Given the description of an element on the screen output the (x, y) to click on. 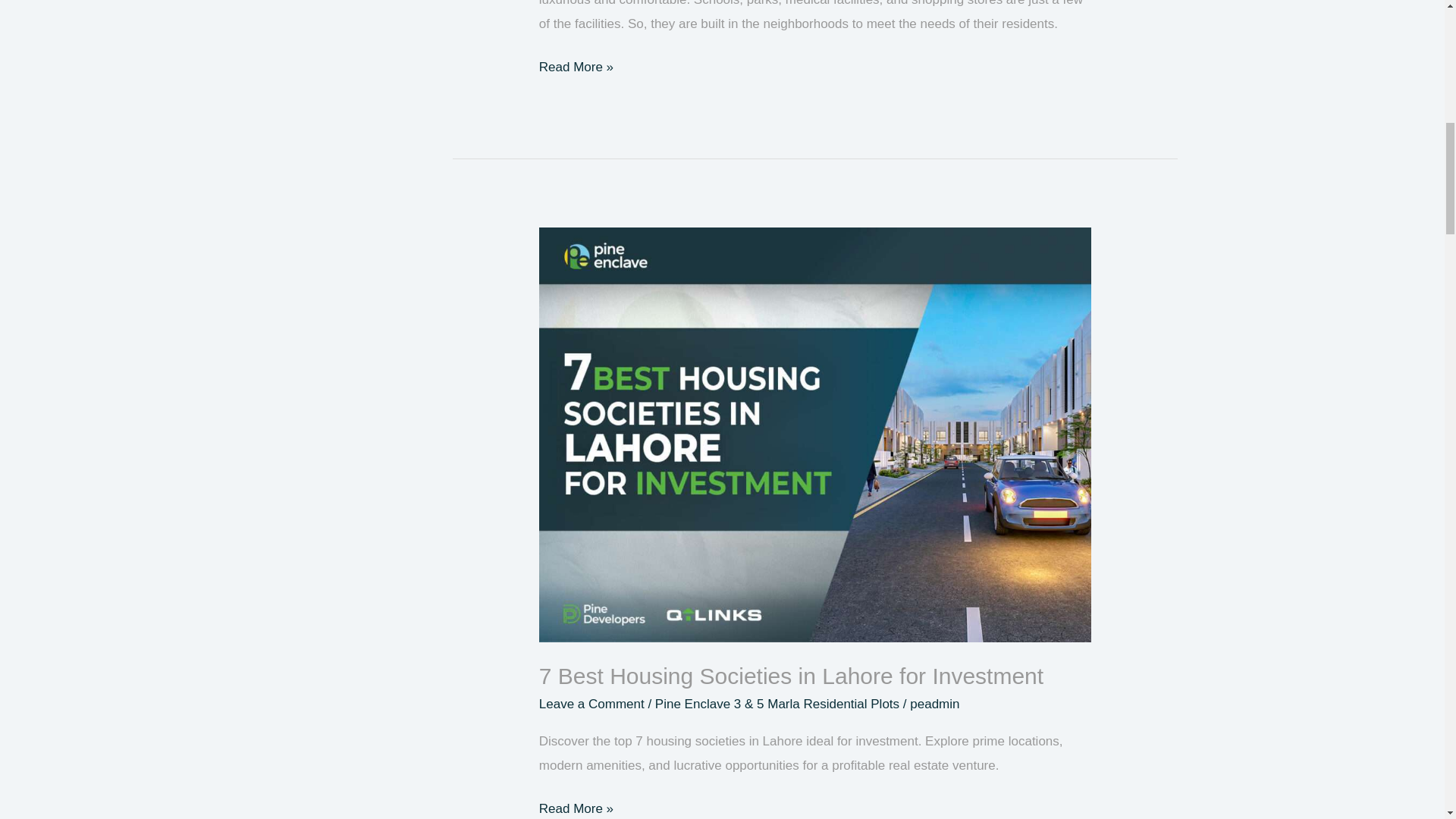
View all posts by peadmin (934, 703)
